Given the description of an element on the screen output the (x, y) to click on. 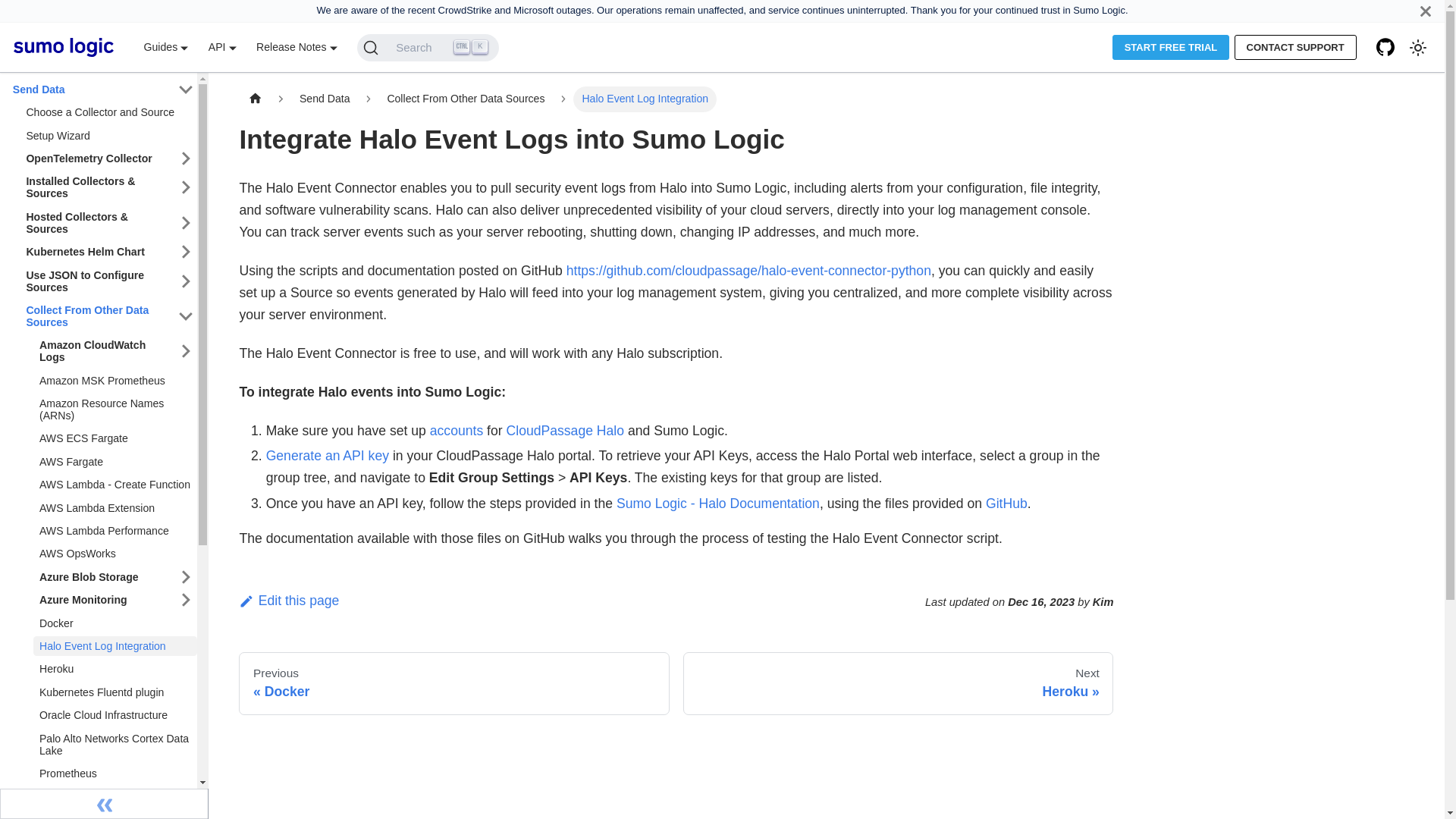
Choose a Collector and Source (108, 112)
Guides (165, 46)
Collapse sidebar (104, 803)
API (222, 46)
Send Data (90, 89)
Setup Wizard (108, 135)
OpenTelemetry Collector (97, 158)
Release Notes (296, 46)
